Given the description of an element on the screen output the (x, y) to click on. 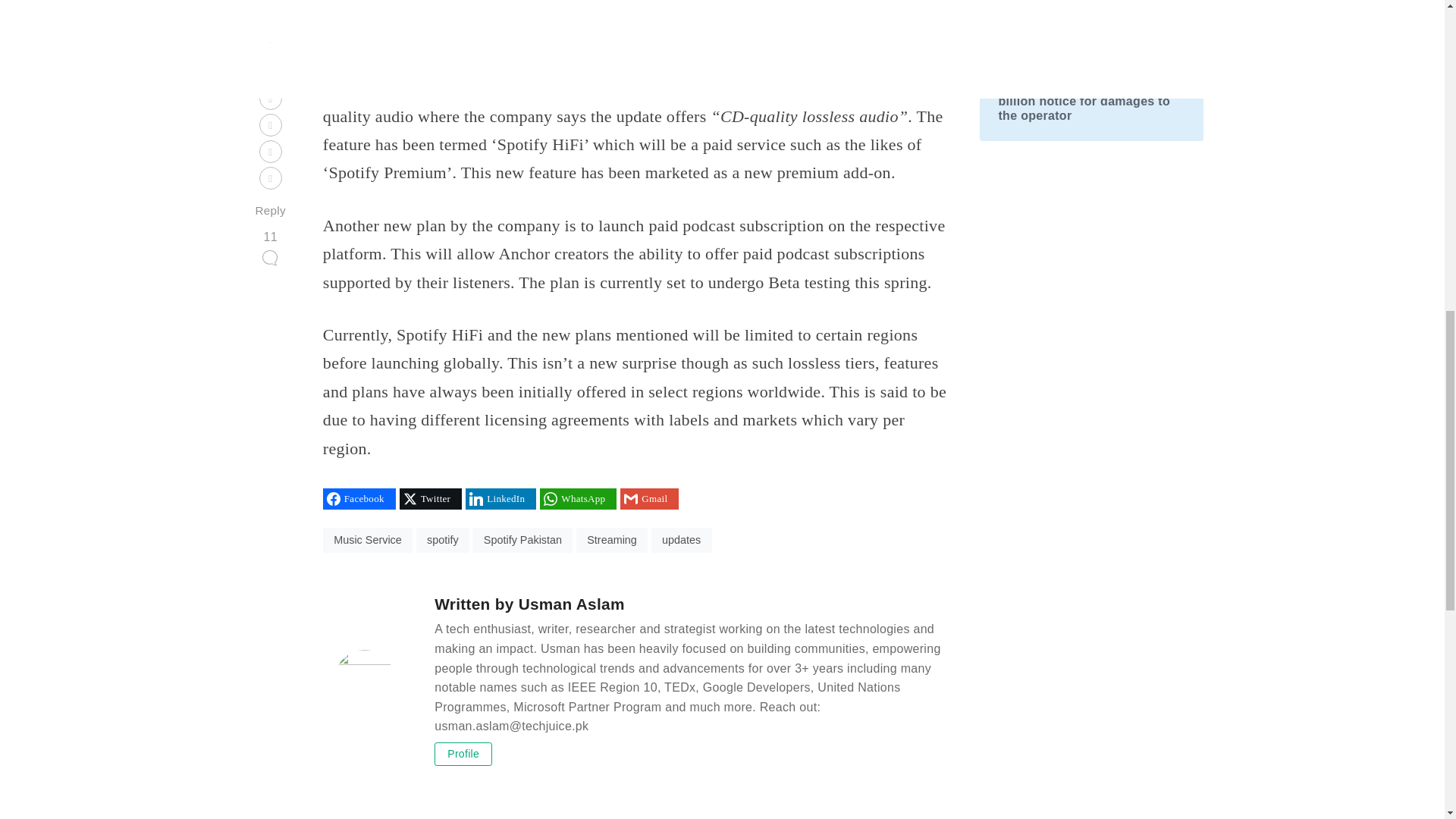
Share on Twitter (429, 498)
Share on Facebook (359, 498)
Share on LinkedIn (500, 498)
Share on Gmail (649, 498)
Share on WhatsApp (577, 498)
